Given the description of an element on the screen output the (x, y) to click on. 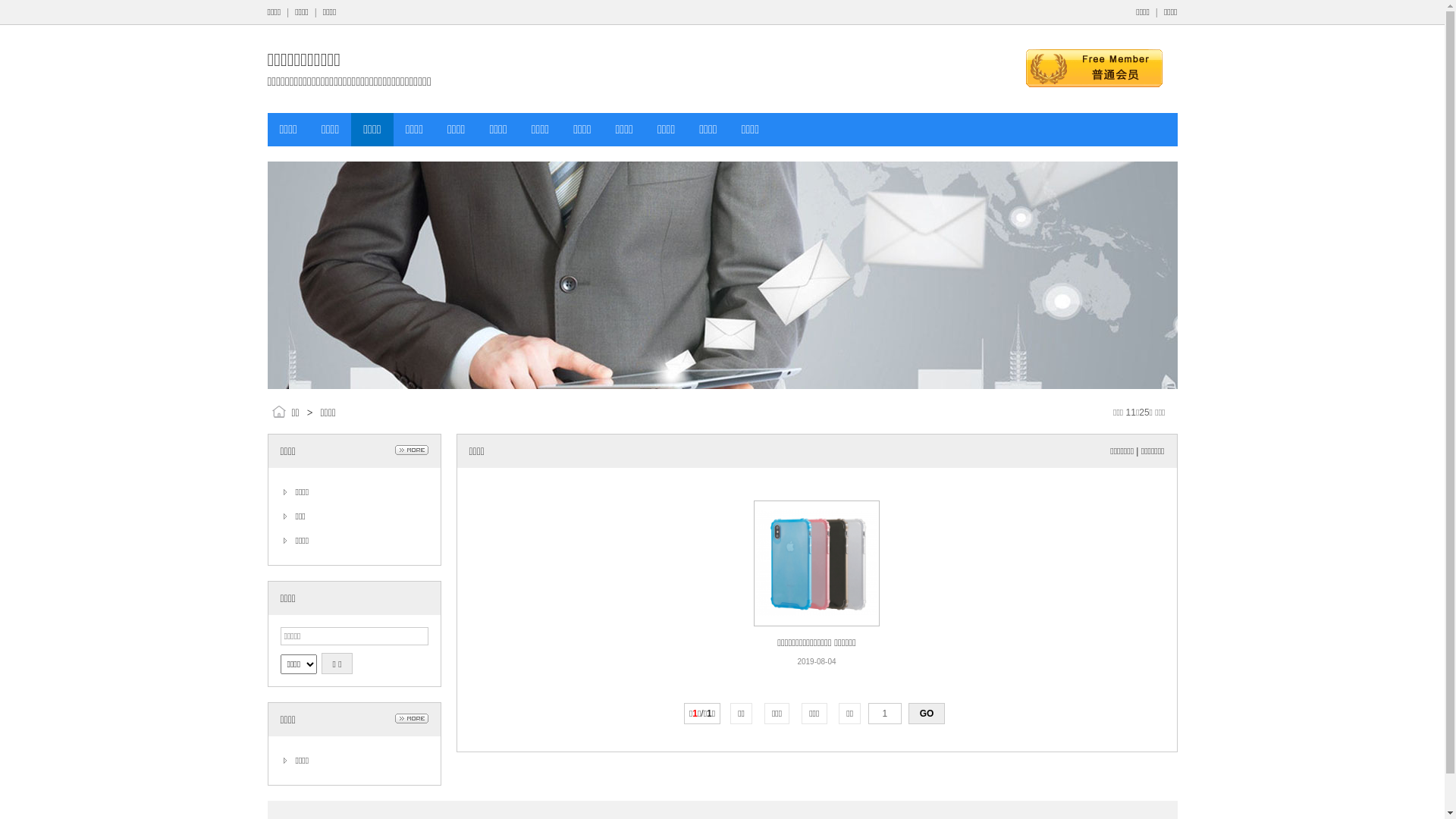
GO Element type: text (926, 713)
